Given the description of an element on the screen output the (x, y) to click on. 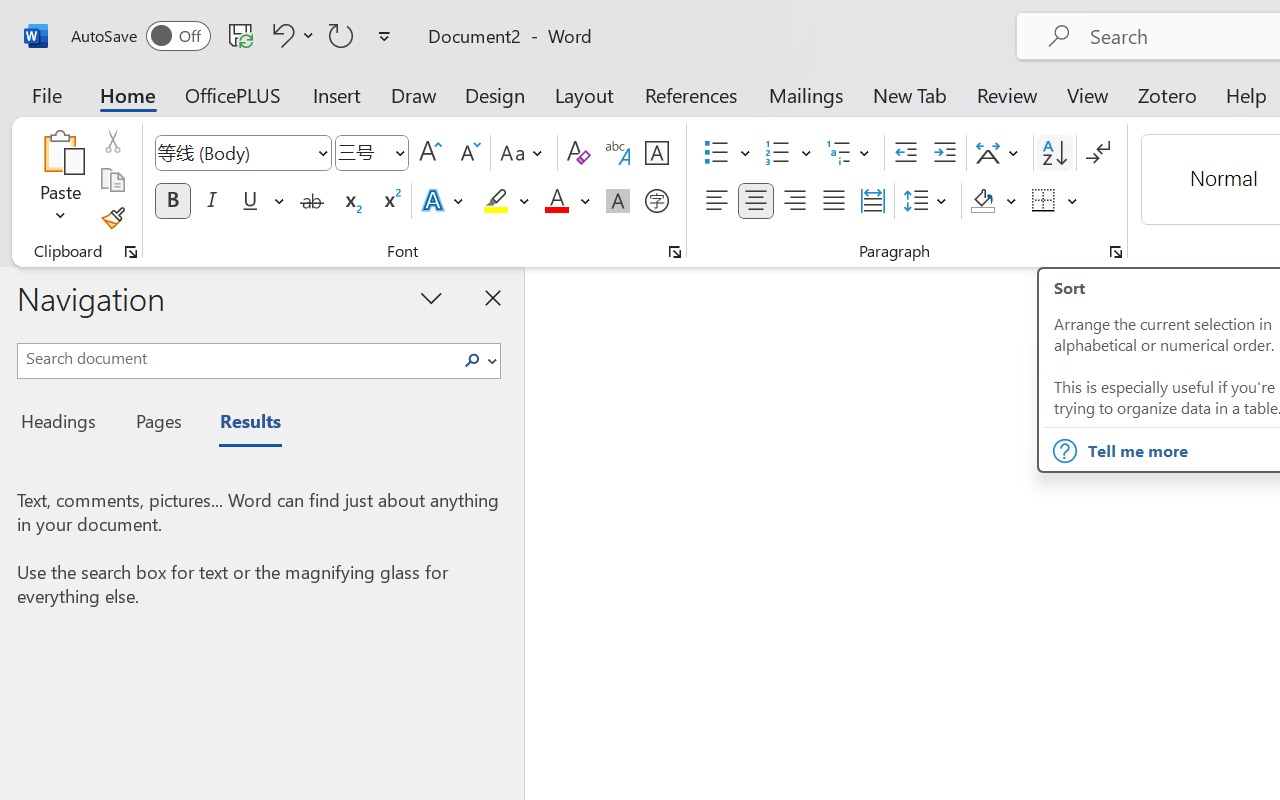
Source Control (Ctrl+Shift+G) (24, 172)
test.py (363, 58)
Views and More Actions... (279, 58)
Search (Ctrl+Shift+F) (24, 118)
Terminal (322, 18)
Edit (89, 18)
Go Back (Alt+LeftArrow) (960, 18)
Selection (141, 18)
Explorer (Ctrl+Shift+E) (24, 65)
Run and Debug (Ctrl+Shift+D) (24, 225)
Python (24, 385)
Run (271, 18)
